Given the description of an element on the screen output the (x, y) to click on. 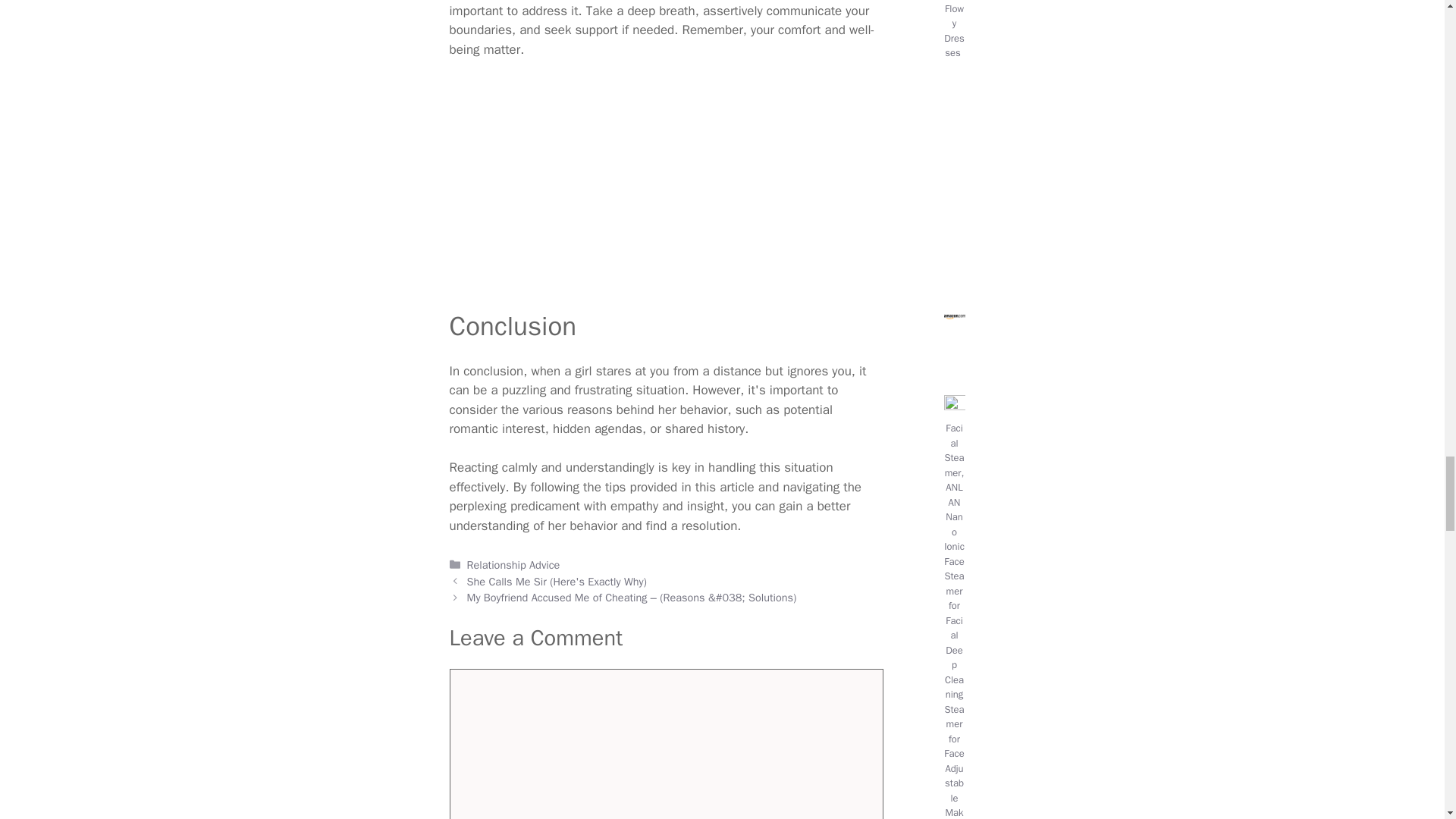
Relationship Advice (513, 564)
